Given the description of an element on the screen output the (x, y) to click on. 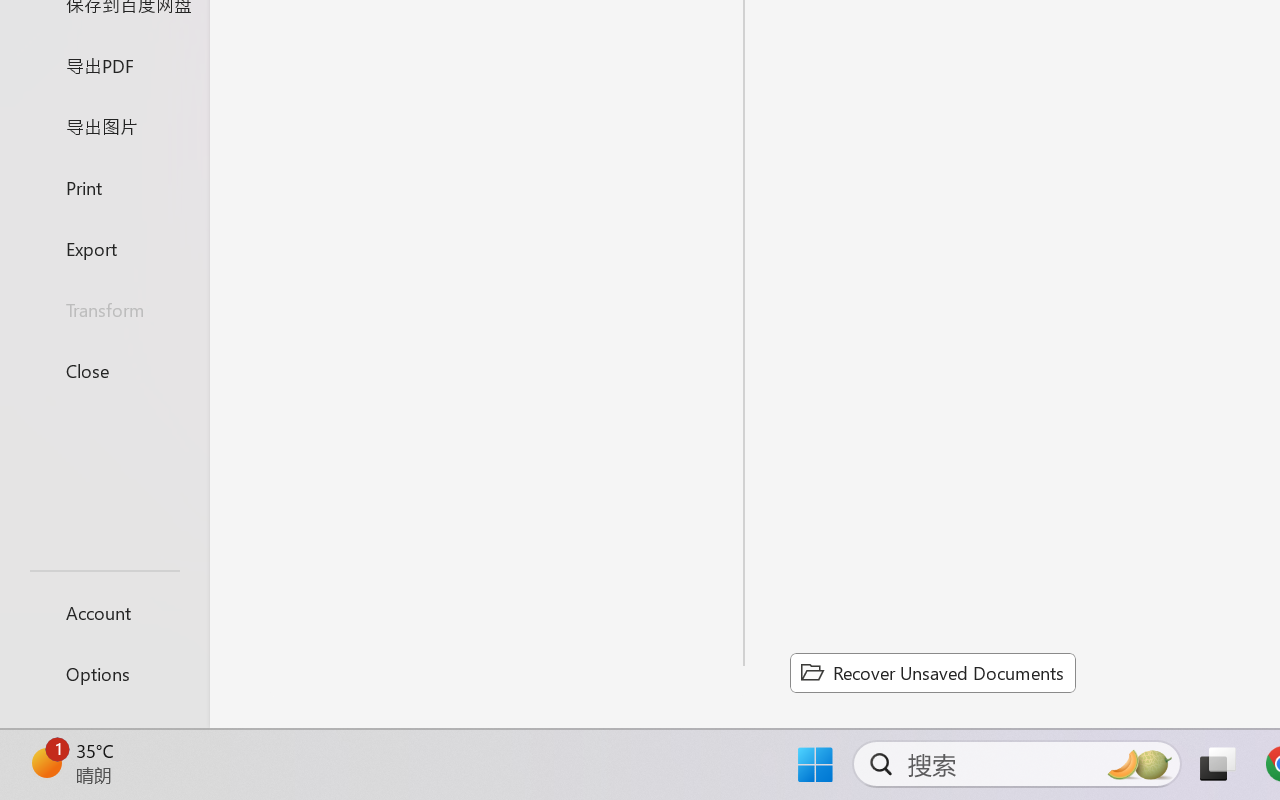
Transform (104, 309)
Account (104, 612)
Options (104, 673)
Export (104, 248)
Print (104, 186)
Recover Unsaved Documents (932, 672)
